Given the description of an element on the screen output the (x, y) to click on. 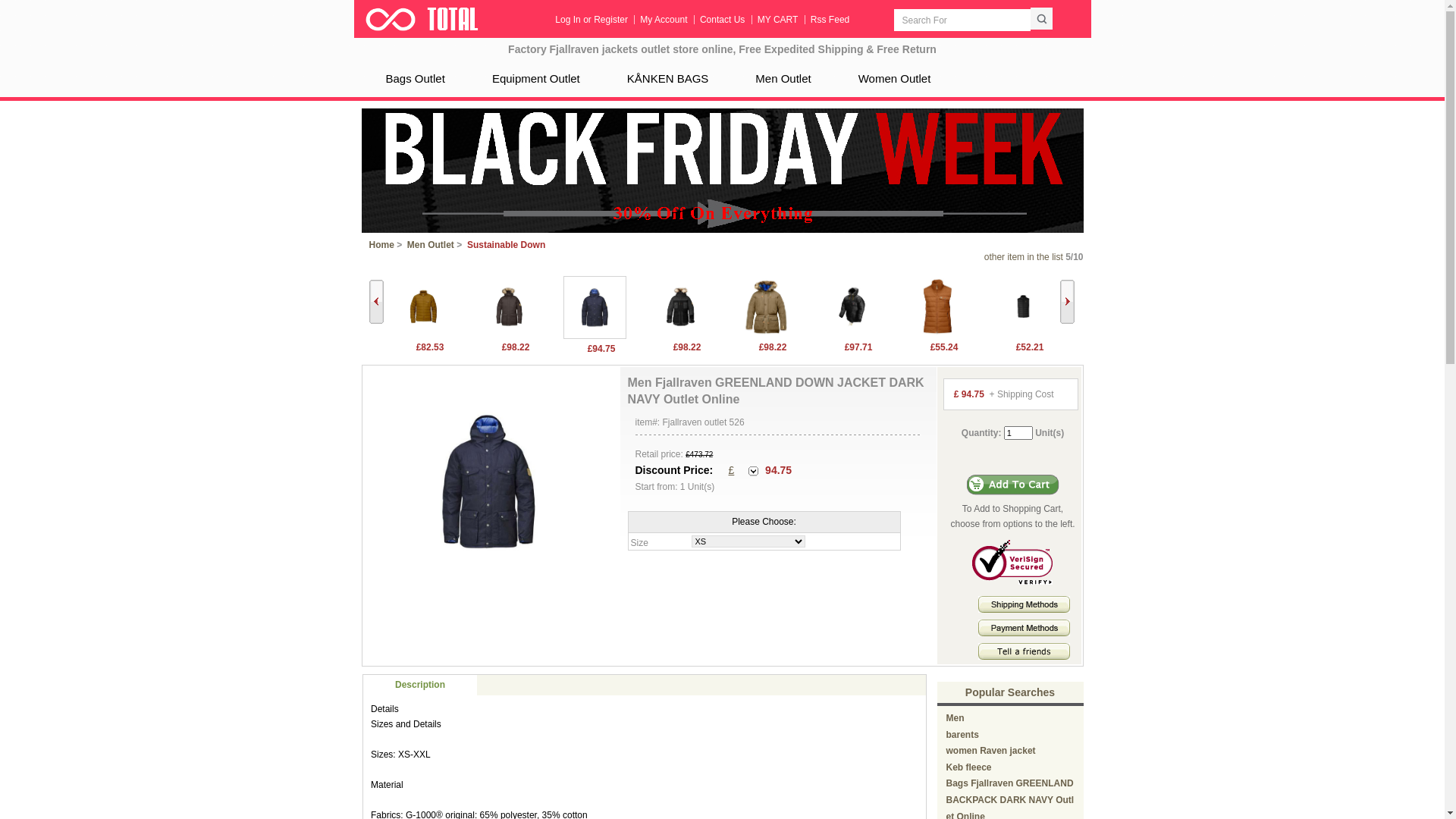
Men Fjallraven OVIK LITE VEST AUTUMN LEAF Outlet Online Element type: hover (937, 334)
 Payment Methods  Element type: hover (1024, 627)
Home Element type: text (380, 244)
Men Fjallraven PAK DOWN VEST BLACK Outlet Online Element type: hover (1022, 334)
Keb fleece Element type: text (968, 767)
Equipment Outlet Element type: text (535, 78)
Bags Outlet Element type: text (414, 78)
Popular Searches Element type: text (1009, 692)
My Account Element type: text (663, 19)
barents Element type: text (962, 734)
Rss Feed Element type: text (830, 19)
Men Fjallraven GREENLAND DOWN JACKET DARK NAVY Outlet Online Element type: hover (593, 307)
Back Element type: hover (375, 301)
Men Fjallraven EXPEDITION DOWN BLACK Outlet Online Element type: hover (850, 306)
Sustainable Down Element type: text (506, 244)
Men Outlet Element type: text (782, 78)
Men Element type: text (955, 717)
other item in the list Element type: text (1023, 256)
MY CART Element type: text (777, 19)
GO Element type: text (1041, 18)
Men Fjallraven EXPEDITION DOWN BLACK Outlet Online Element type: hover (850, 334)
Women Outlet Element type: text (894, 78)
Men Fjallraven GREENLAND DOWN JACKET DARK NAVY Outlet Online Element type: hover (593, 335)
Men Fjallraven OVIK LITE VEST AUTUMN LEAF Outlet Online Element type: hover (937, 306)
Men Fjallraven KYL PARKA BLACK BROWN Outlet Online Element type: hover (508, 334)
 Tell A Friends  Element type: hover (1024, 651)
Men Fjallraven KYL PARKA BLACK BROWN Outlet Online Element type: hover (508, 306)
Men Fjallraven ARKTIS PARKA DARK GREY Outlet Online Element type: hover (679, 306)
Men Outlet Element type: text (430, 244)
Log In or Register Element type: text (591, 19)
 Shipping Methods  Element type: hover (1024, 604)
Contact Us Element type: text (722, 19)
Add to Cart Element type: hover (1012, 484)
Payment methods Element type: hover (1024, 632)
women Raven jacket Element type: text (990, 750)
Men Fjallraven PAK DOWN VEST BLACK Outlet Online Element type: hover (1022, 306)
Shipping Methods Element type: hover (1024, 609)
Next Element type: hover (1067, 301)
Men Fjallraven ARKTIS PARKA DARK GREY Outlet Online Element type: hover (679, 334)
